Given the description of an element on the screen output the (x, y) to click on. 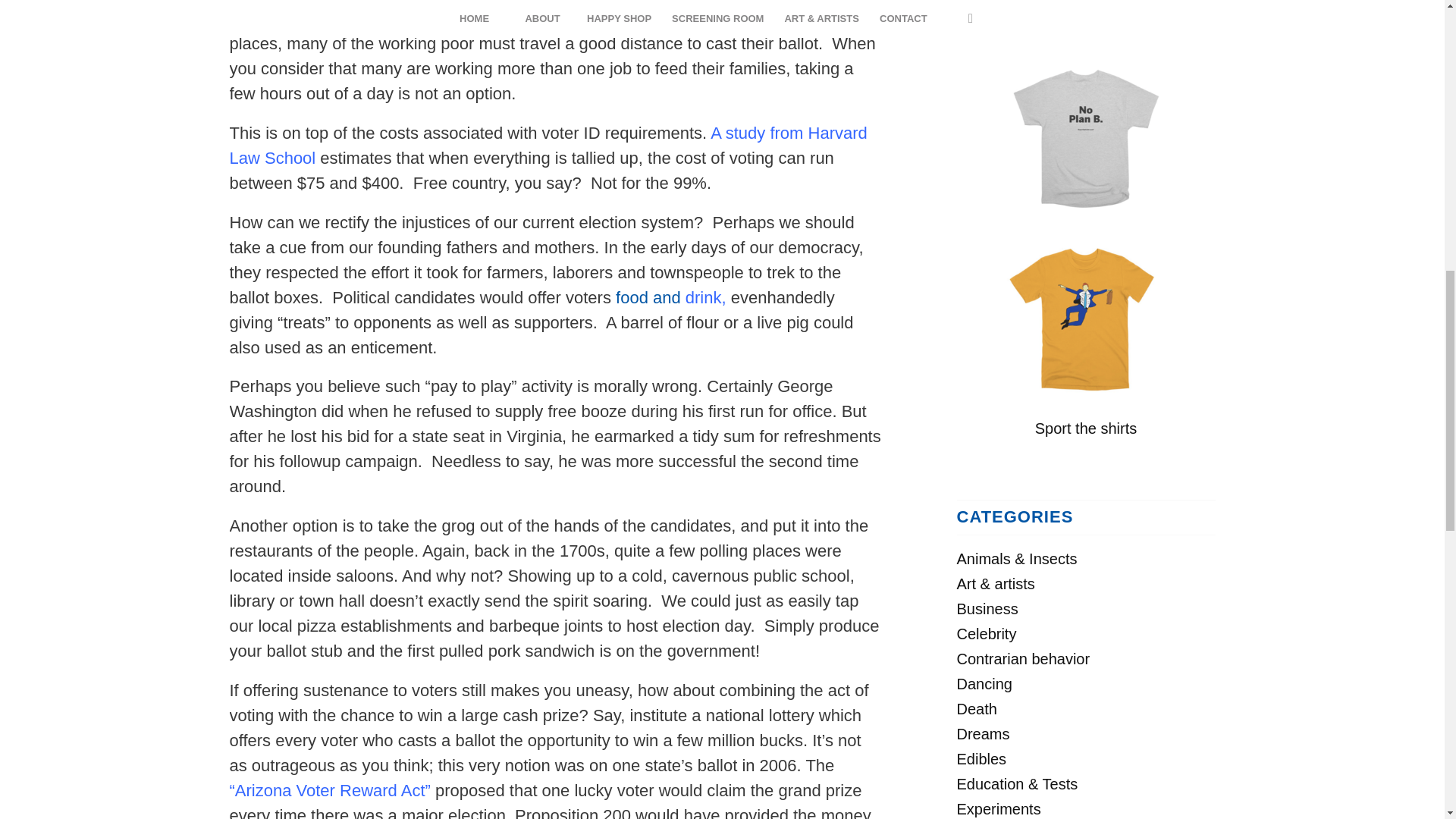
food and drink (667, 297)
Contrarian behavior (1023, 658)
Celebrity (986, 633)
Business (986, 608)
Dreams (983, 733)
Dancing (983, 683)
but it should be (553, 1)
Edibles (981, 759)
Death (976, 709)
A study from Harvard Law School (547, 145)
